Given the description of an element on the screen output the (x, y) to click on. 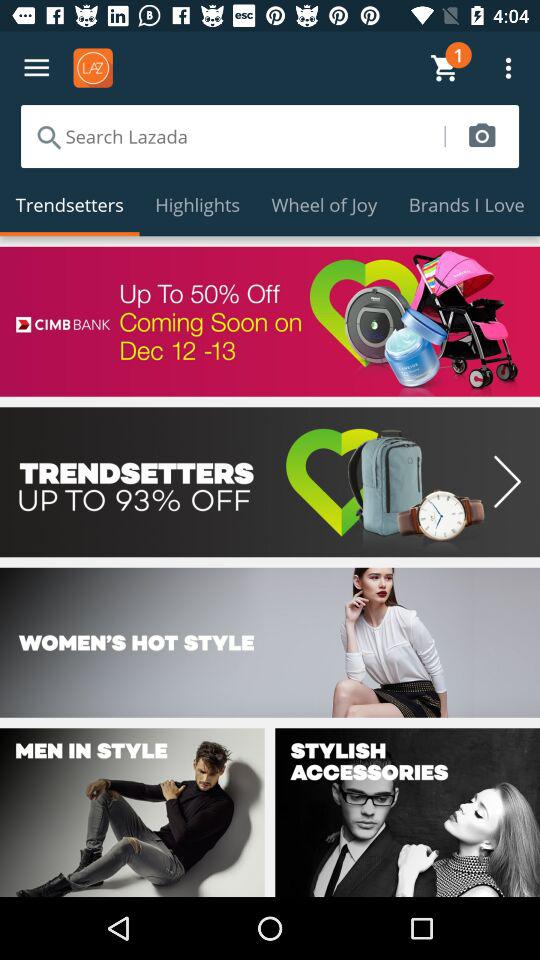
go to search (232, 136)
